Given the description of an element on the screen output the (x, y) to click on. 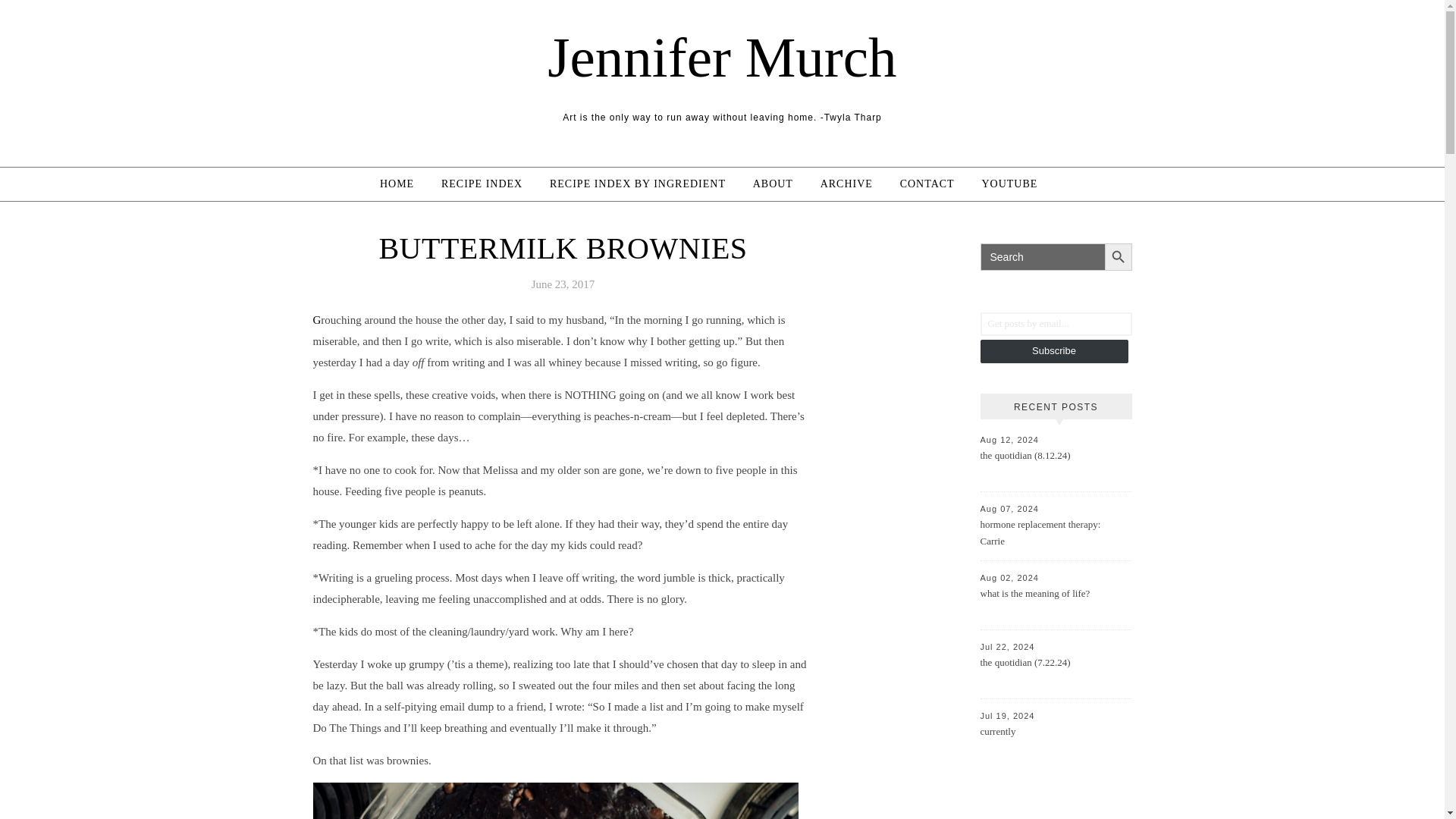
RECIPE INDEX (481, 183)
CONTACT (927, 183)
ABOUT (773, 183)
Please fill in this field. (1055, 323)
ARCHIVE (846, 183)
Jennifer Murch (721, 56)
RECIPE INDEX BY INGREDIENT (637, 183)
HOME (403, 183)
YOUTUBE (1009, 183)
